Given the description of an element on the screen output the (x, y) to click on. 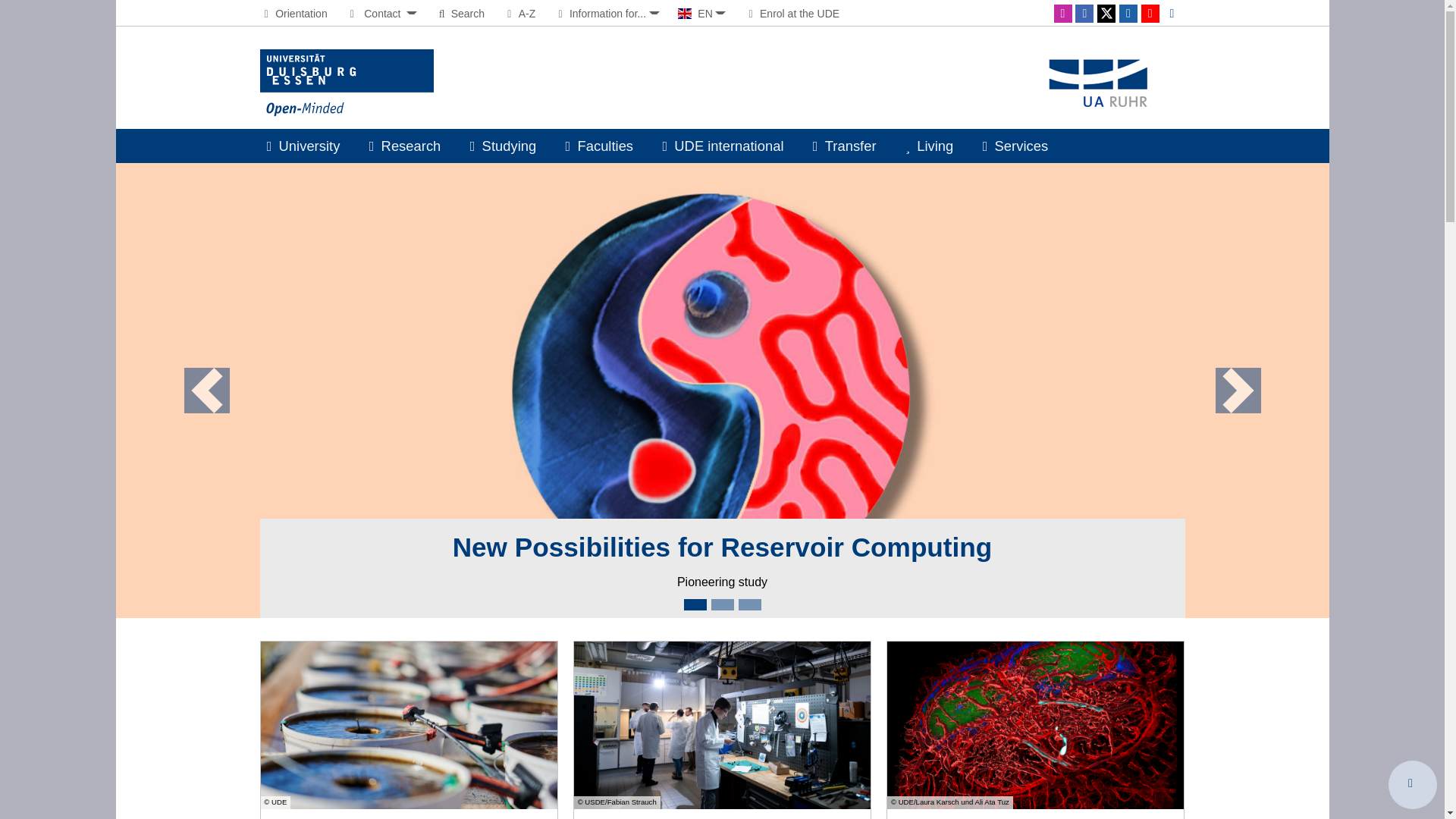
UDE Youtube Channel (1149, 13)
Follow us on X (1106, 13)
Orientation (292, 13)
EN (702, 13)
Alphabetisches Stichwortverzeichnis en (518, 13)
Information for... (606, 13)
University (302, 145)
Enrol at the UDE (792, 13)
Follow us on Instagram (1062, 13)
Follow us on Facebook (1084, 13)
Follow us on LinkedIn (1128, 13)
A-Z (518, 13)
University (302, 145)
Contact (381, 13)
Search (459, 13)
